Given the description of an element on the screen output the (x, y) to click on. 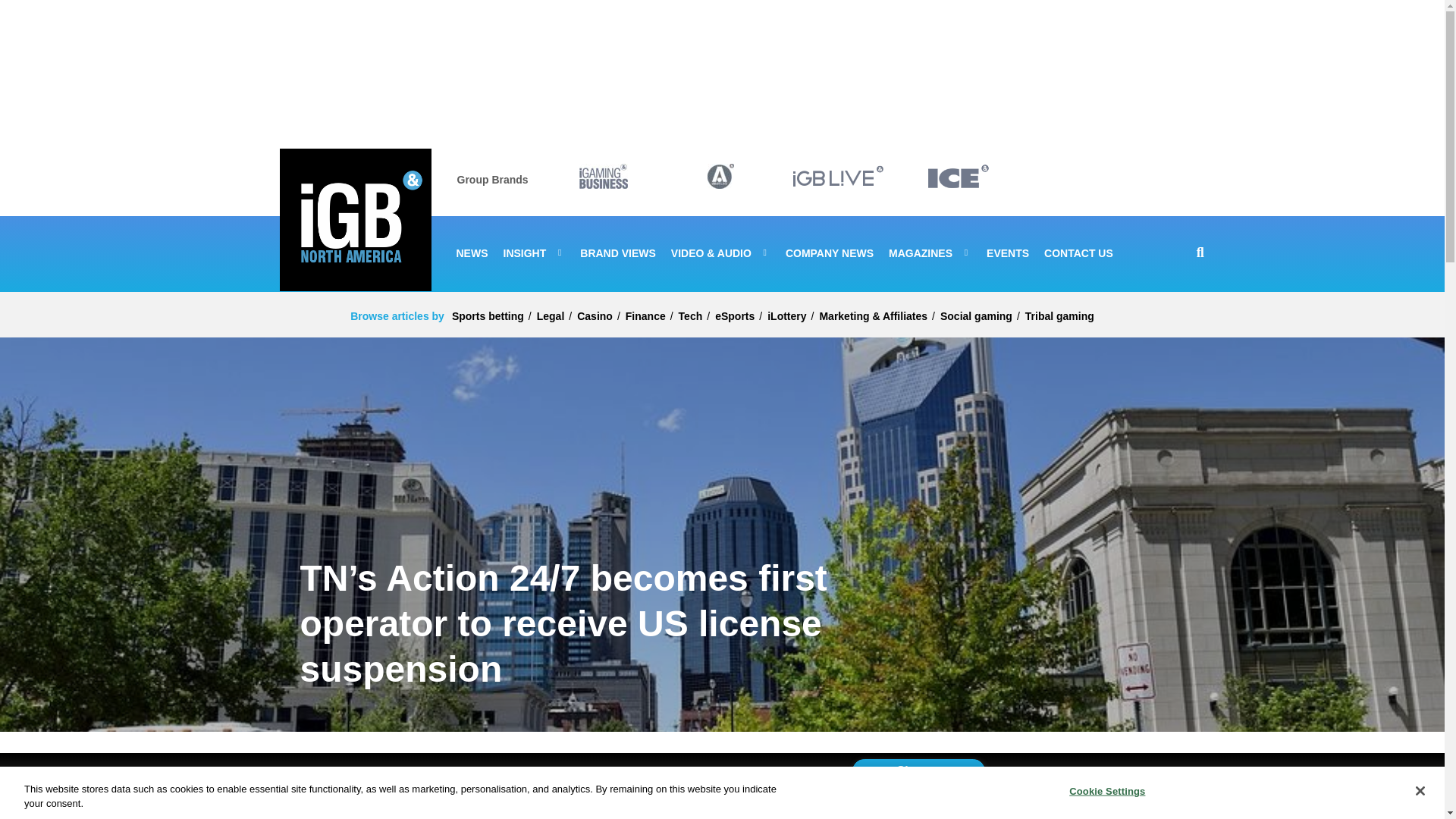
Sports betting (487, 315)
NEWS (472, 252)
MAGAZINES (929, 252)
Casino (594, 315)
Finance (645, 315)
Social gaming (975, 315)
BRAND VIEWS (617, 252)
COMPANY NEWS (829, 252)
iLottery (786, 315)
INSIGHT (534, 252)
eSports (734, 315)
Legal (550, 315)
CONTACT US (1078, 252)
Tribal gaming (1059, 315)
Tech (690, 315)
